Given the description of an element on the screen output the (x, y) to click on. 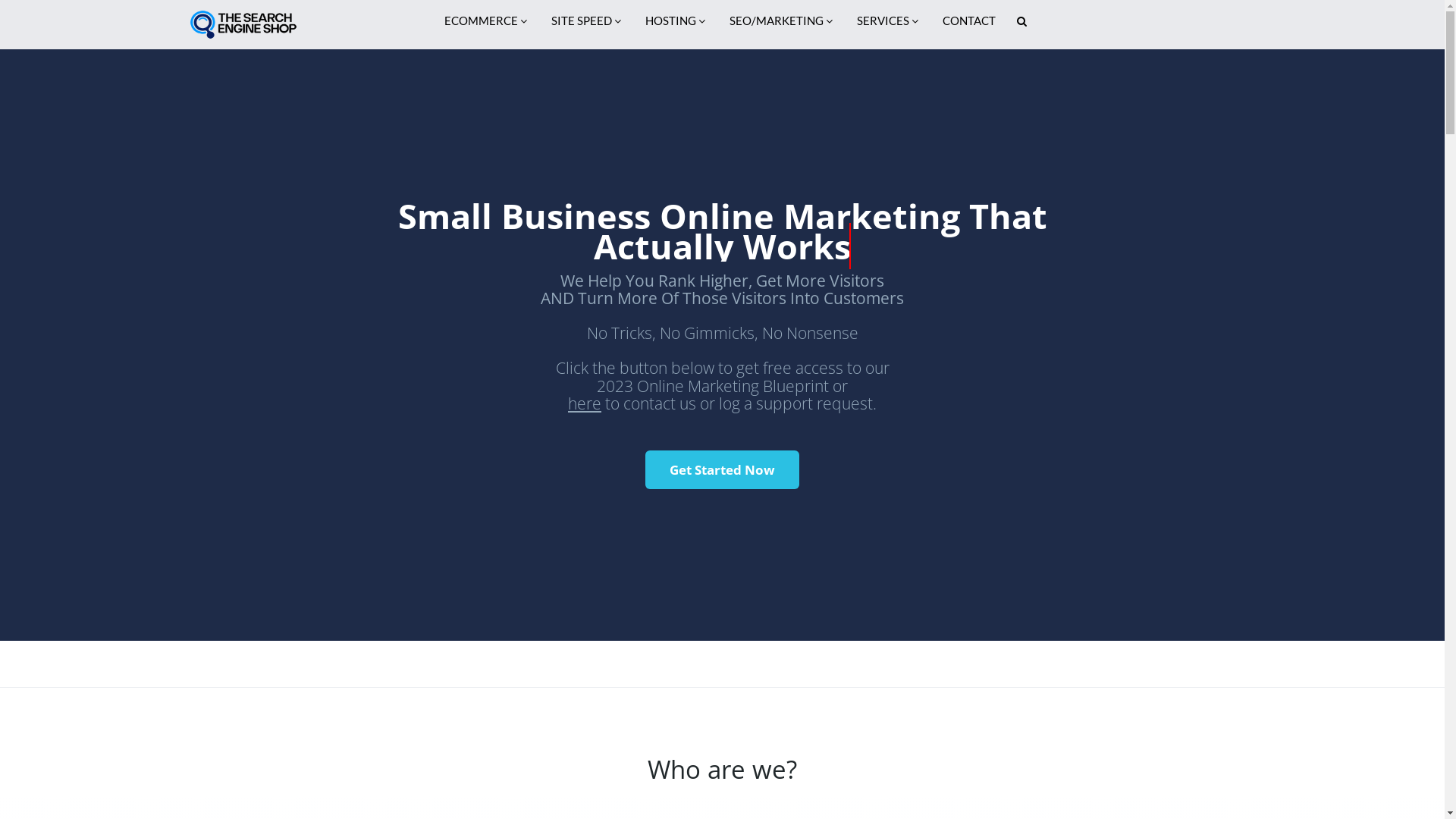
CONTACT Element type: text (968, 20)
HOSTING Element type: text (674, 20)
Get Started Now Element type: text (722, 469)
SEO/MARKETING Element type: text (780, 20)
SITE SPEED Element type: text (585, 20)
here to contact us or log a support request Element type: text (719, 403)
SERVICES Element type: text (887, 20)
ECOMMERCE Element type: text (485, 20)
